Given the description of an element on the screen output the (x, y) to click on. 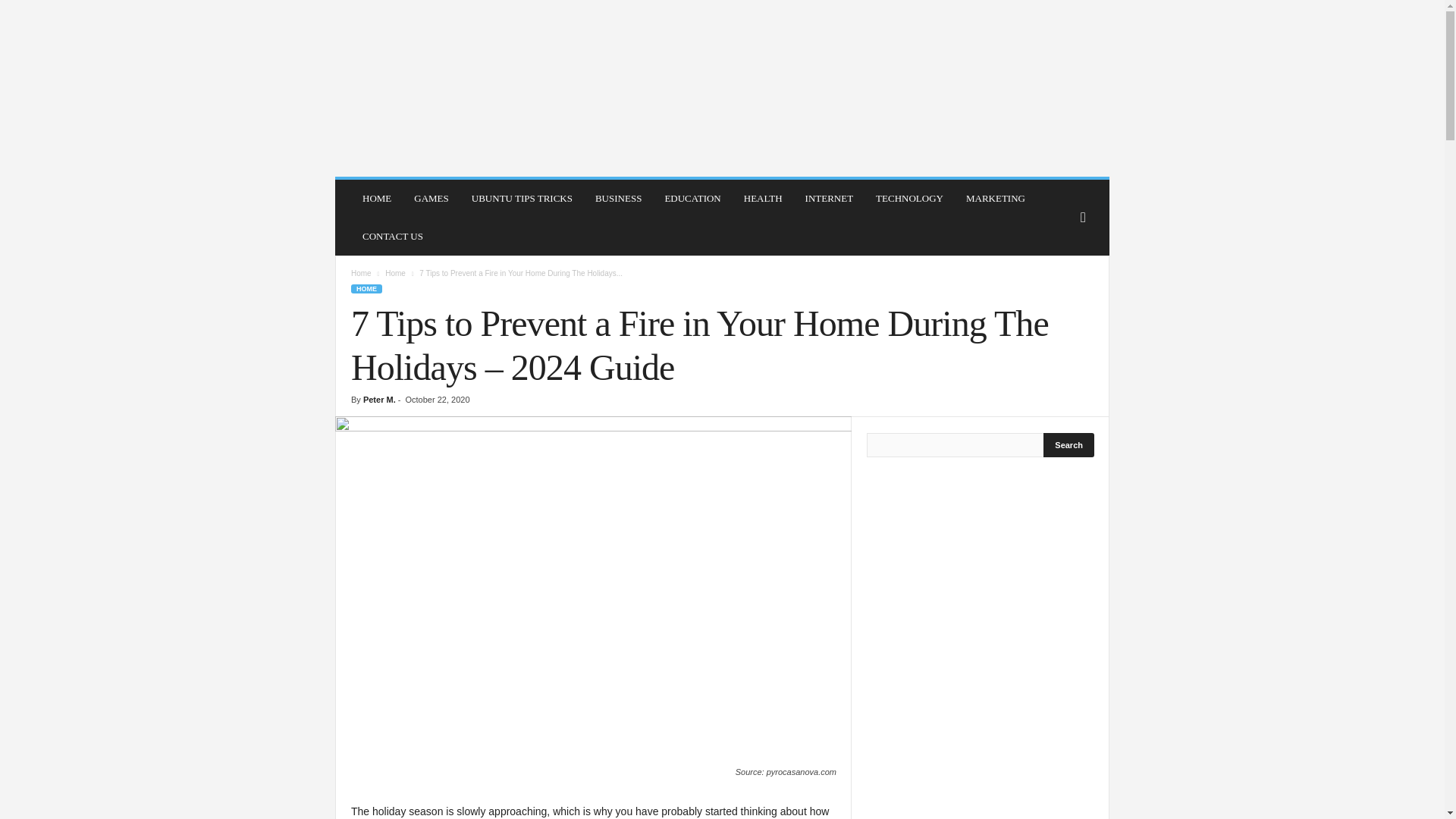
View all posts in Home (395, 273)
BUSINESS (617, 198)
INTERNET (828, 198)
EDUCATION (692, 198)
HOME (376, 198)
MARKETING (995, 198)
CONTACT US (391, 236)
Home (360, 273)
HEALTH (762, 198)
HOME (365, 288)
